Given the description of an element on the screen output the (x, y) to click on. 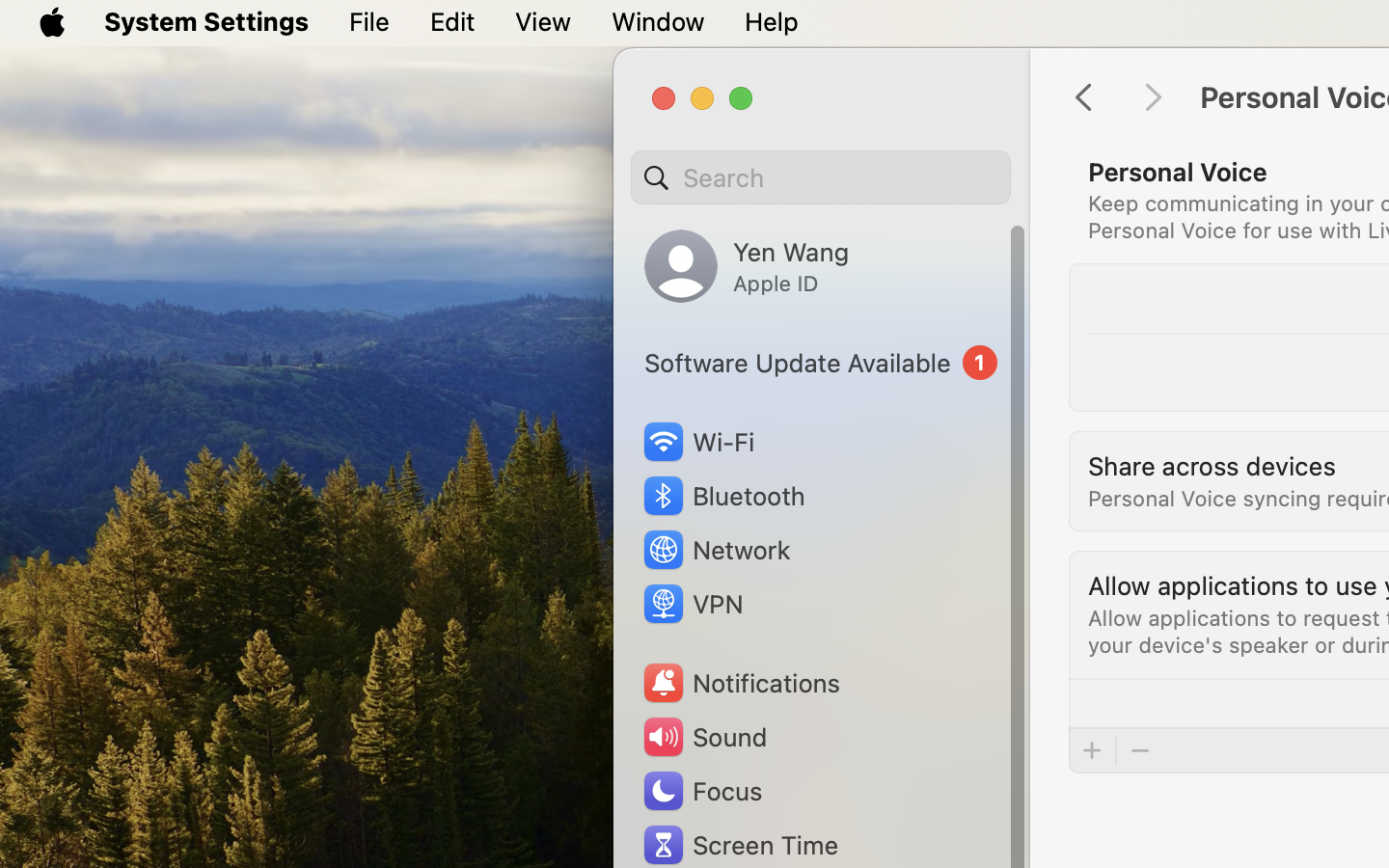
Notifications Element type: AXStaticText (740, 682)
Wi‑Fi Element type: AXStaticText (697, 441)
Screen Time Element type: AXStaticText (739, 844)
Yen Wang, Apple ID Element type: AXStaticText (746, 265)
Bluetooth Element type: AXStaticText (723, 495)
